Given the description of an element on the screen output the (x, y) to click on. 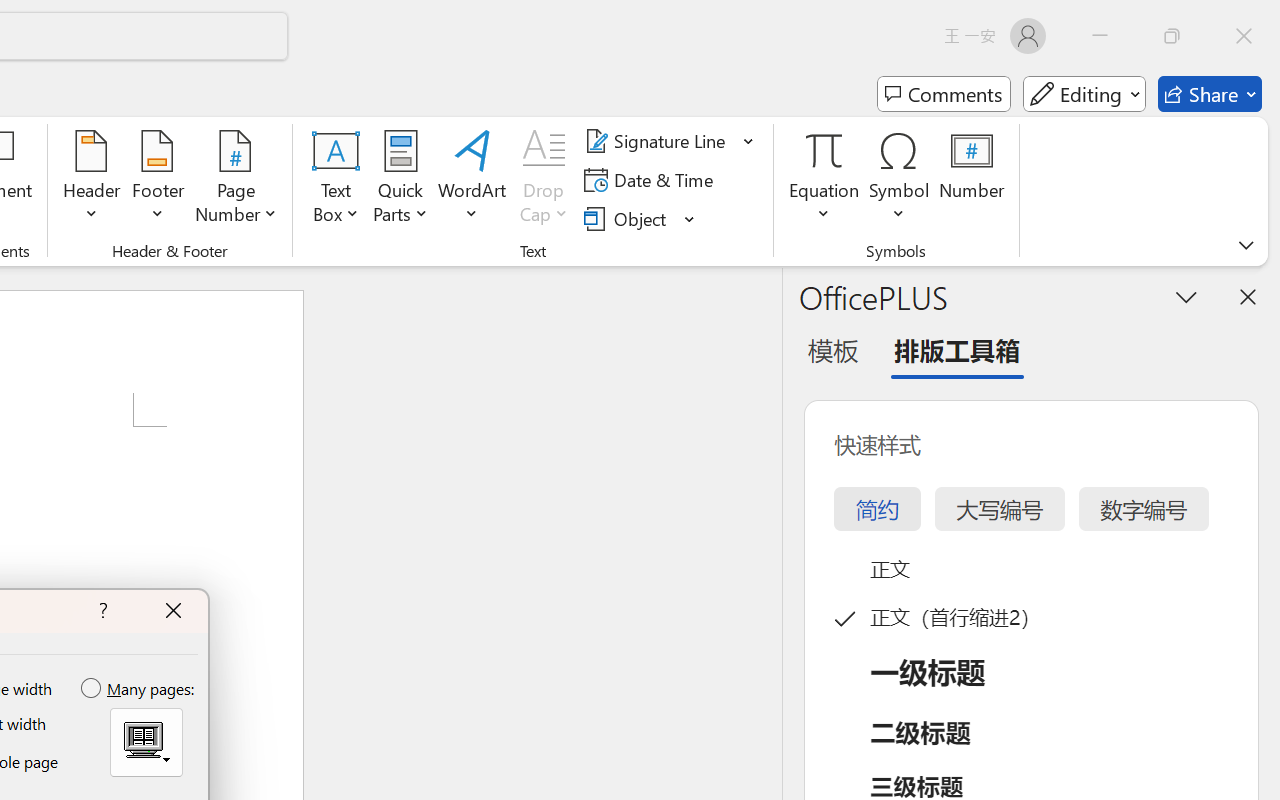
Date & Time... (651, 179)
Multiple Pages (146, 742)
Number... (971, 179)
Many pages: (139, 689)
Page Number (236, 179)
